Given the description of an element on the screen output the (x, y) to click on. 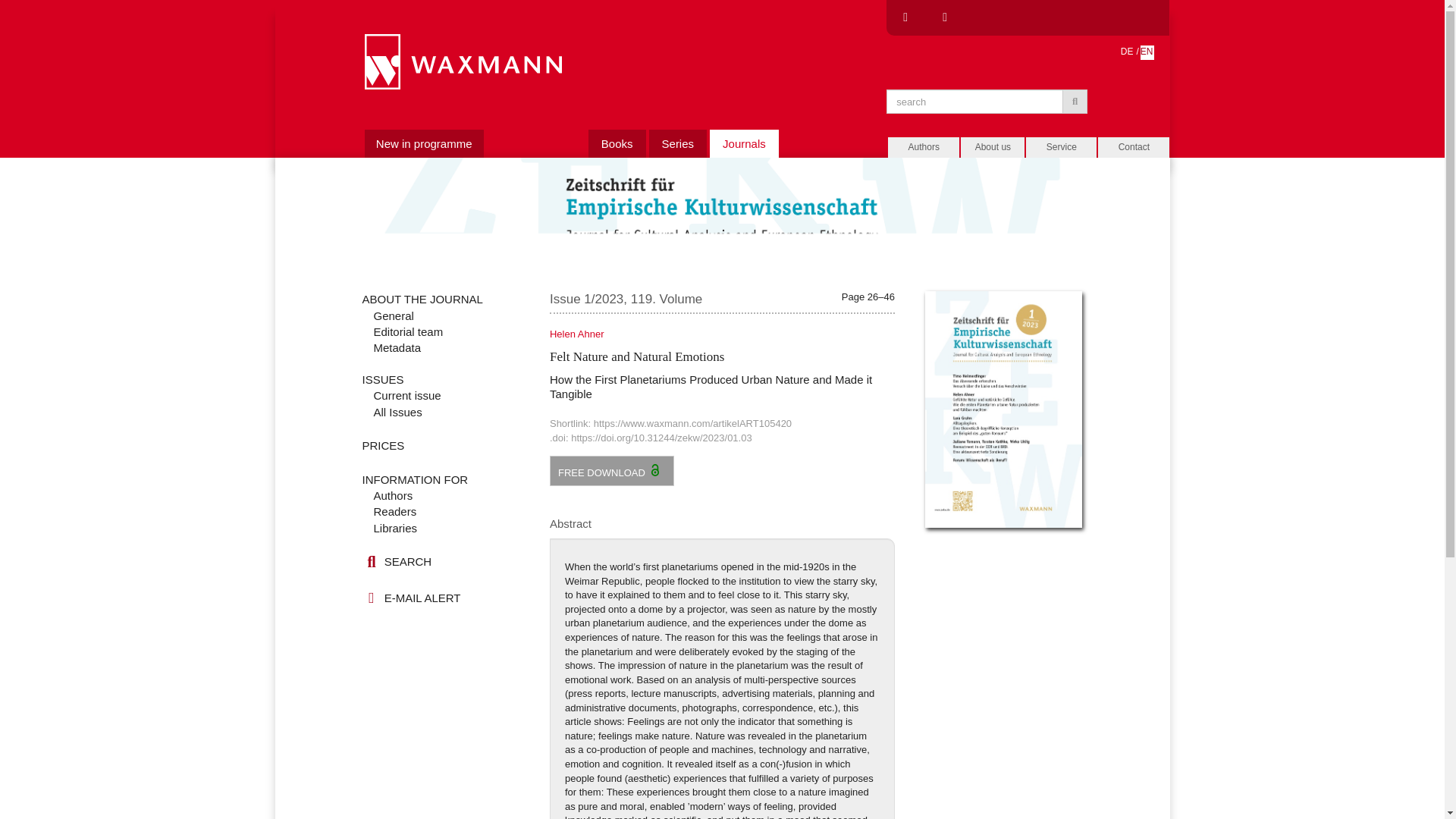
DE (1128, 52)
Zur Startseite (463, 61)
Zur Startseite (463, 58)
Books (617, 143)
OPEN-ACCESS (656, 468)
New in programme (424, 143)
EN (1147, 52)
